Given the description of an element on the screen output the (x, y) to click on. 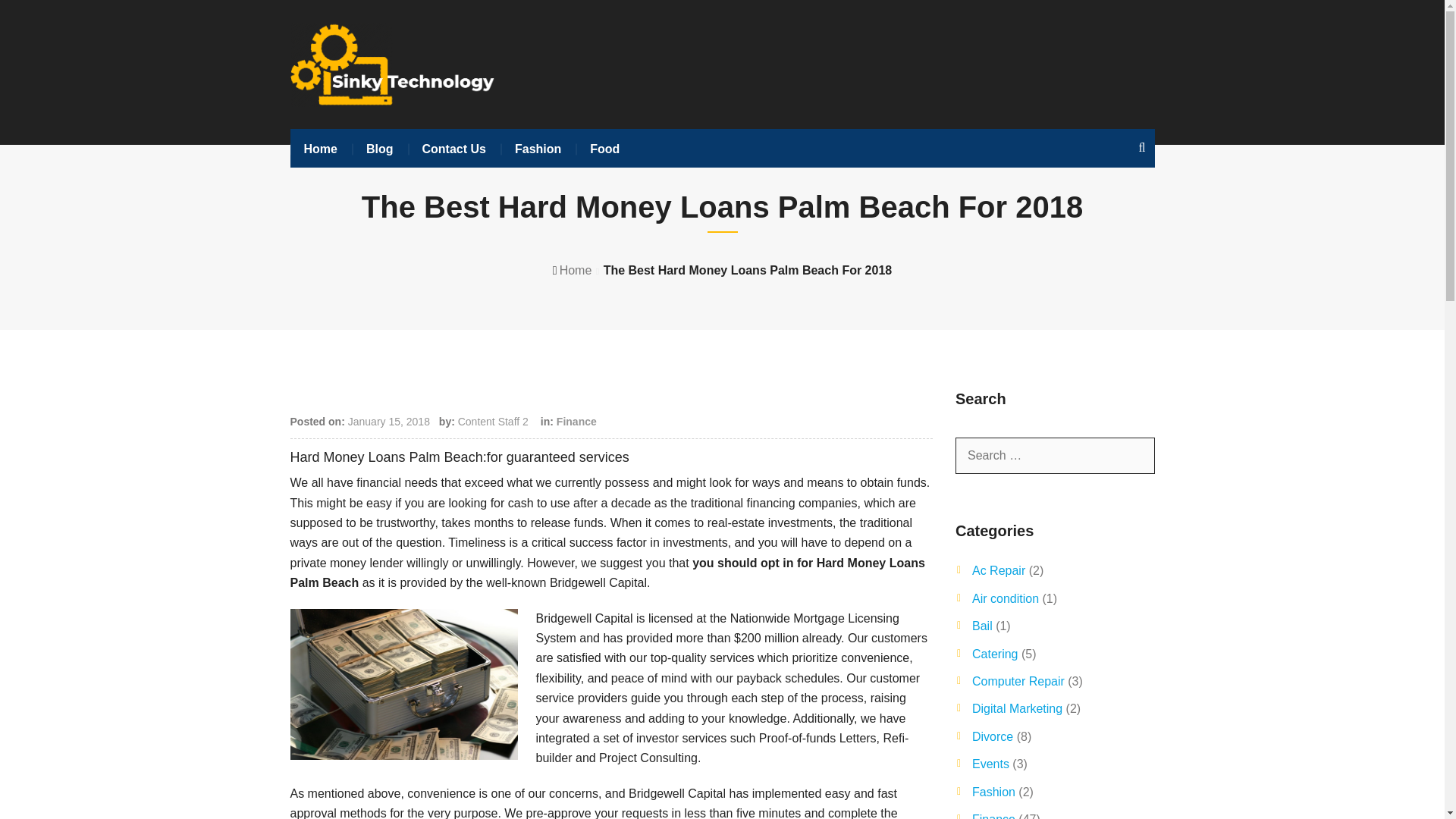
Fashion (537, 149)
January 15, 2018 (388, 421)
Contact Us (453, 149)
Food (604, 149)
Air condition (1005, 598)
Finance (576, 421)
Catering (994, 653)
Bail (982, 625)
Home (319, 149)
Home (575, 269)
Ac Repair (998, 570)
Sinky Technology (575, 269)
Content Staff 2 (493, 421)
Blog (379, 149)
